Given the description of an element on the screen output the (x, y) to click on. 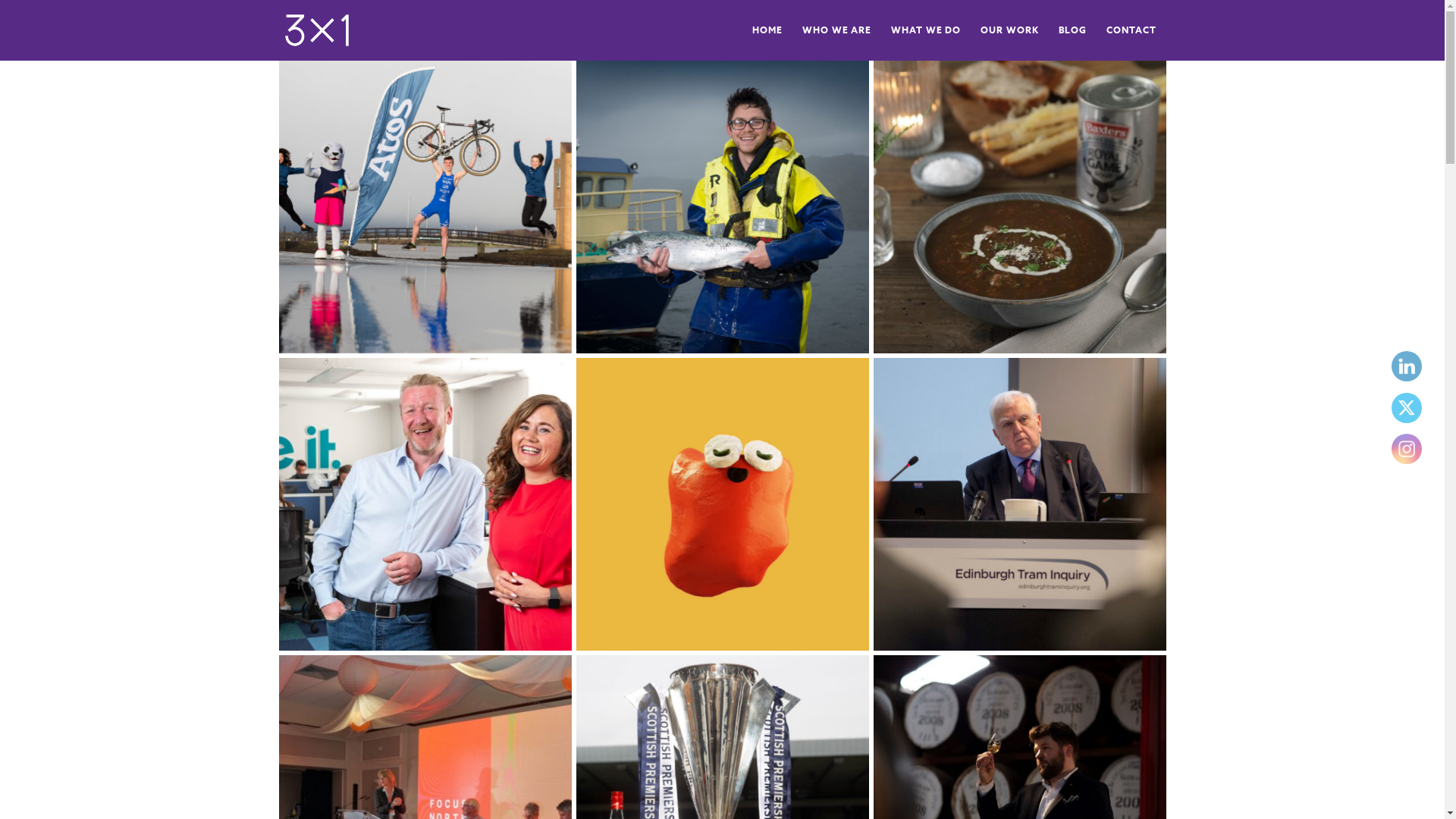
WHO WE ARE Element type: text (836, 30)
CONTACT Element type: text (1130, 30)
WHAT WE DO Element type: text (925, 30)
OUR WORK Element type: text (1009, 30)
LinkedIn Element type: hover (1406, 365)
Instagram Element type: hover (1406, 448)
Twitter Element type: hover (1406, 407)
HOME Element type: text (767, 30)
BLOG Element type: text (1072, 30)
